Given the description of an element on the screen output the (x, y) to click on. 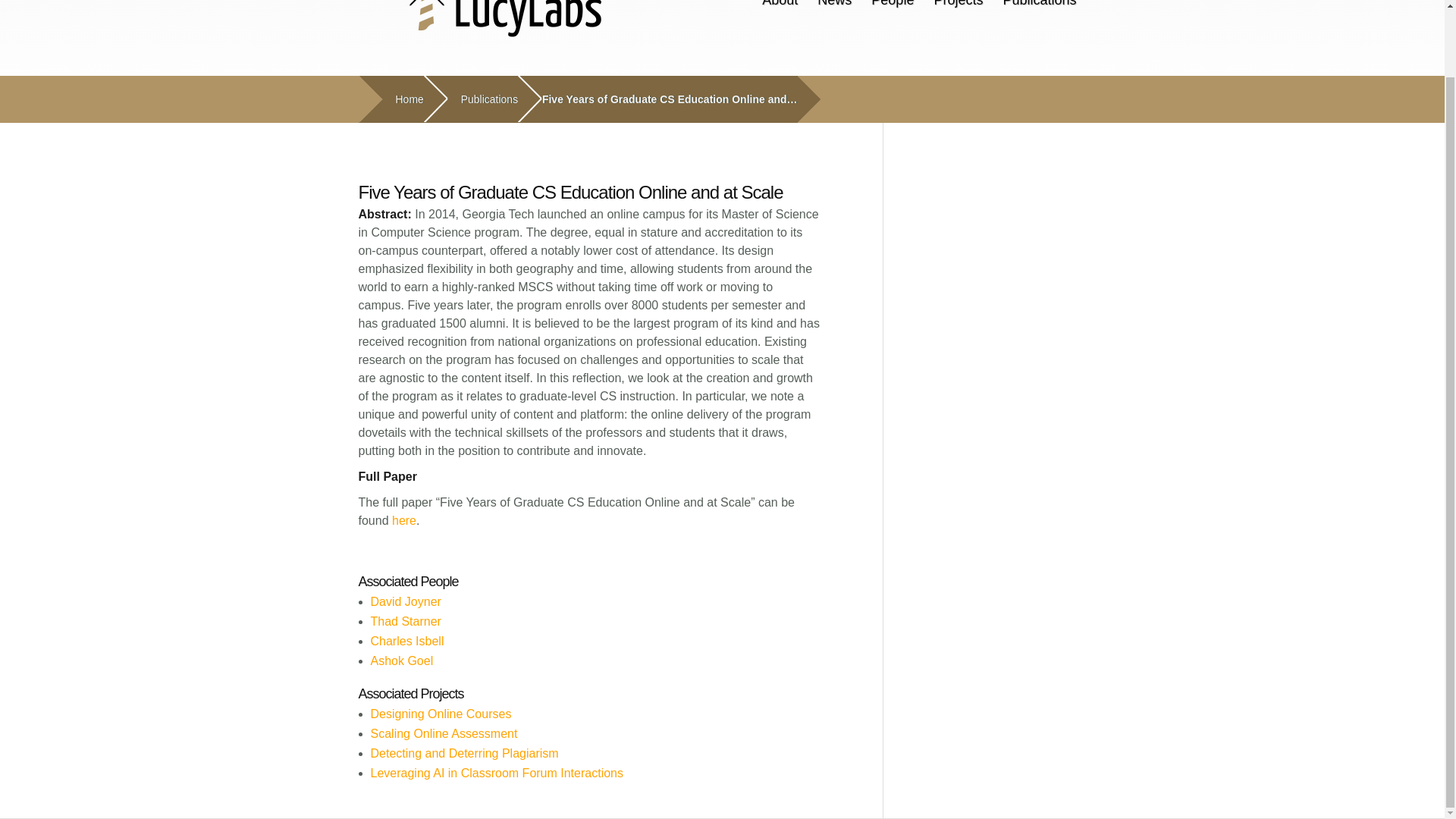
Projects (957, 6)
Publications (483, 99)
Charles Isbell (406, 640)
News (834, 6)
David Joyner (405, 601)
People (892, 6)
Scaling Online Assessment (442, 733)
Leveraging AI in Classroom Forum Interactions (496, 772)
Publications (1039, 6)
Designing Online Courses (440, 713)
Ashok Goel (400, 660)
Detecting and Deterring Plagiarism (463, 753)
Thad Starner (405, 621)
About (780, 6)
here (403, 520)
